Given the description of an element on the screen output the (x, y) to click on. 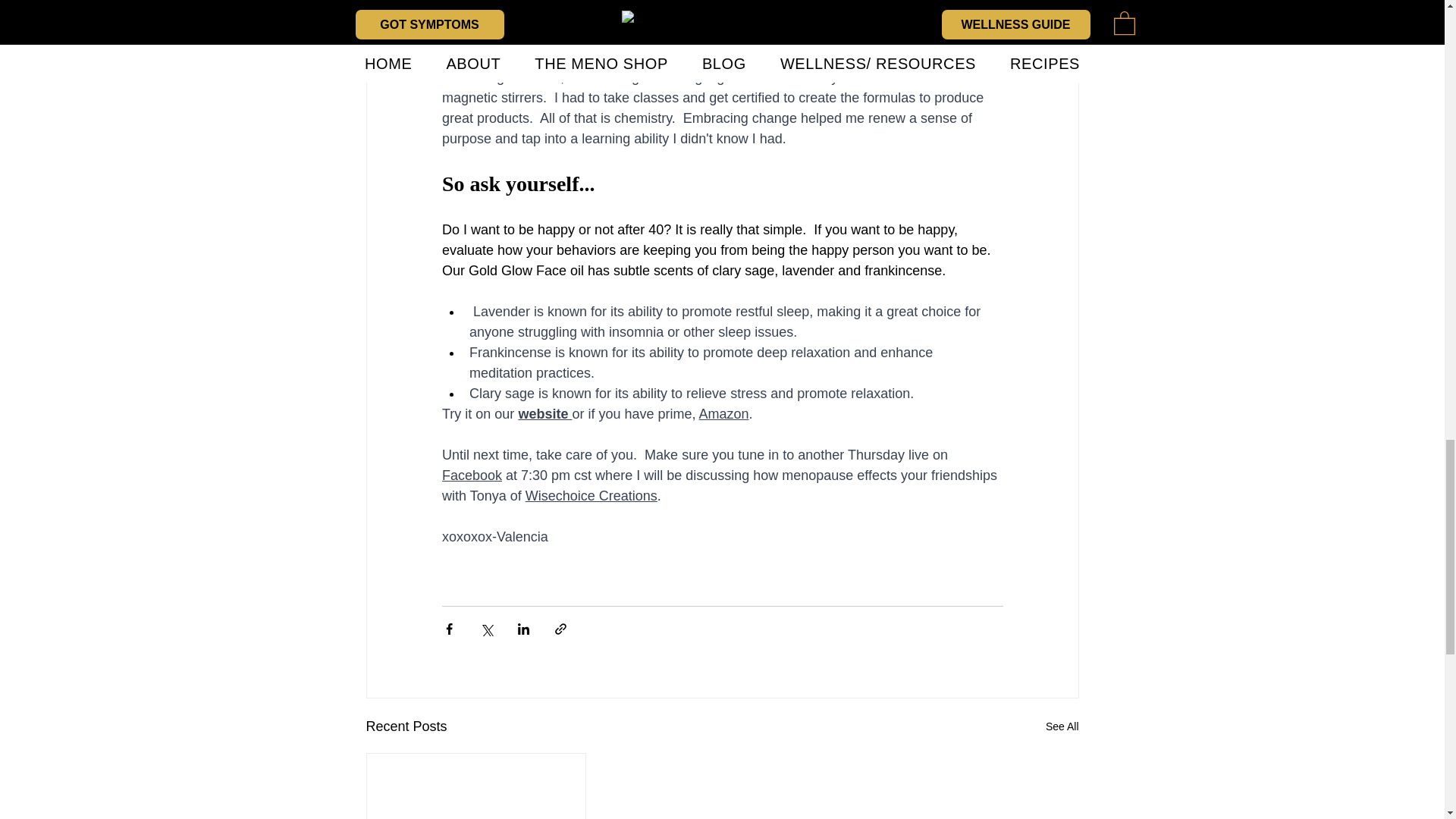
Wisechoice Creations (590, 495)
Amazon (723, 413)
Facebook (470, 475)
See All (1061, 726)
website  (545, 413)
